Given the description of an element on the screen output the (x, y) to click on. 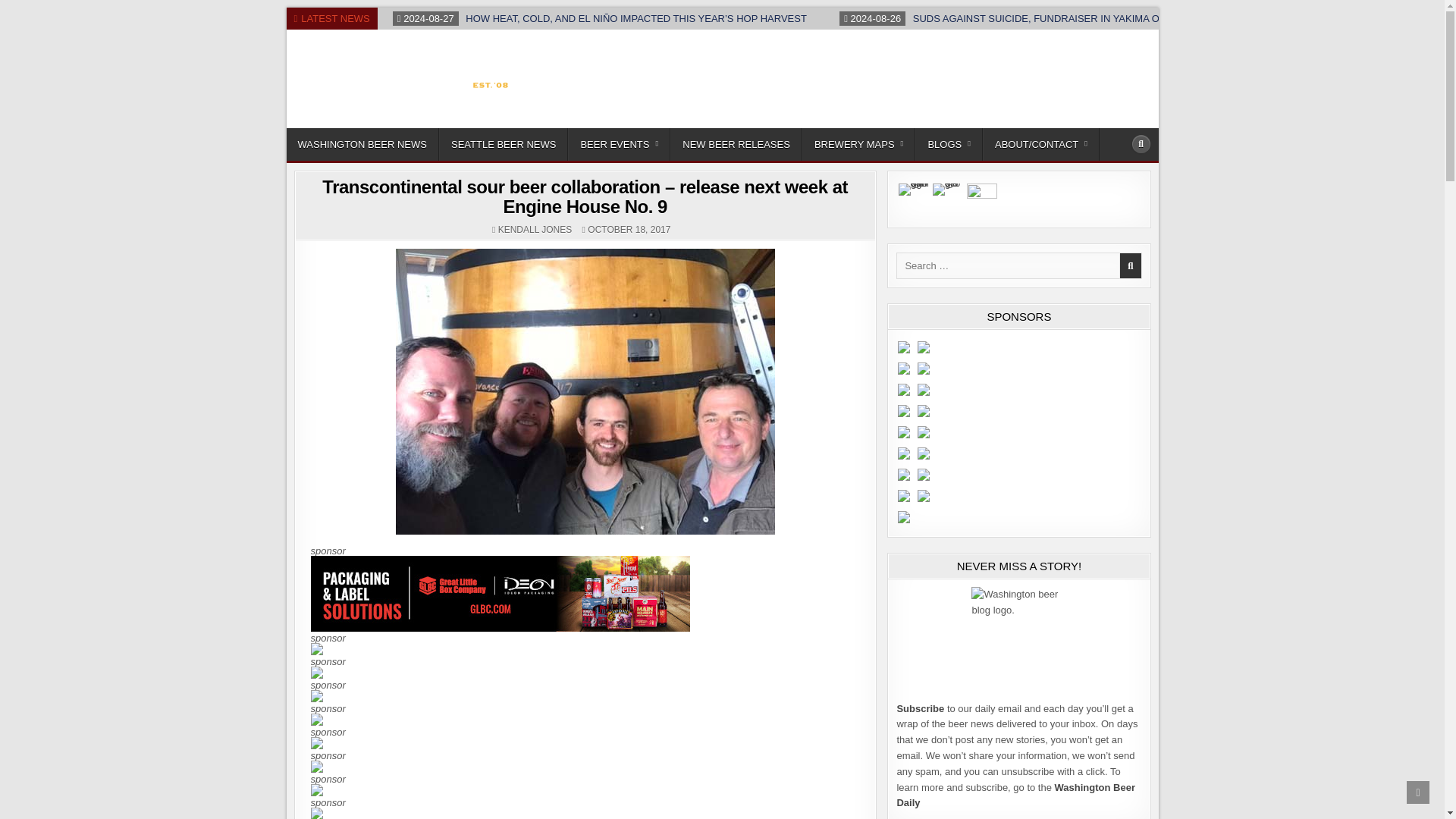
The Washington Beer Blog (400, 124)
SCROLL TO TOP (1417, 792)
KENDALL JONES (534, 229)
BEER EVENTS (618, 143)
BLOGS (948, 143)
SEATTLE BEER NEWS (503, 143)
NEW BEER RELEASES (735, 143)
BREWERY MAPS (858, 143)
